Given the description of an element on the screen output the (x, y) to click on. 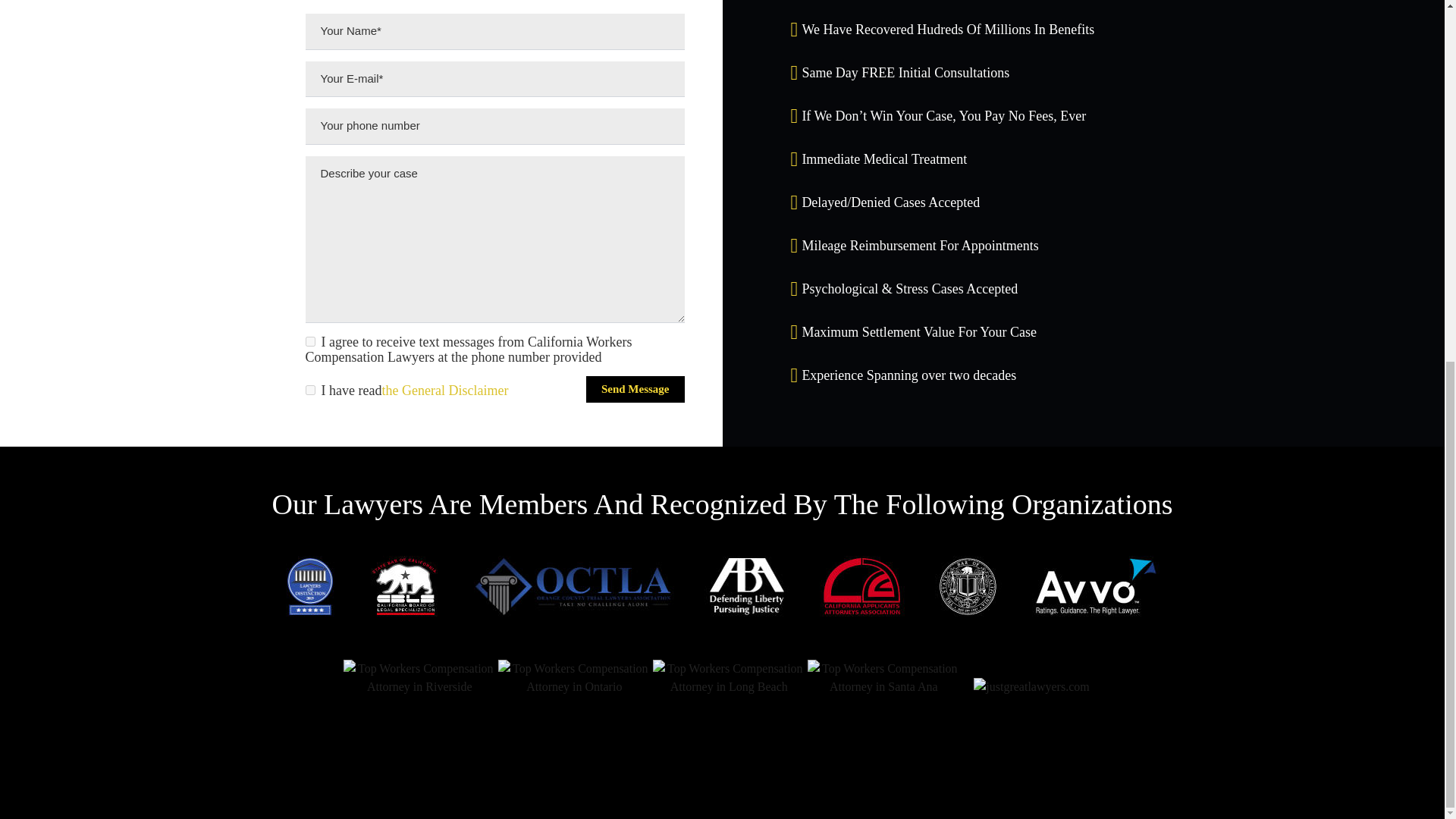
I agree (323, 166)
I have read (323, 215)
General Disclaimer (461, 215)
Send Message (635, 214)
YouTube player (721, 734)
